Given the description of an element on the screen output the (x, y) to click on. 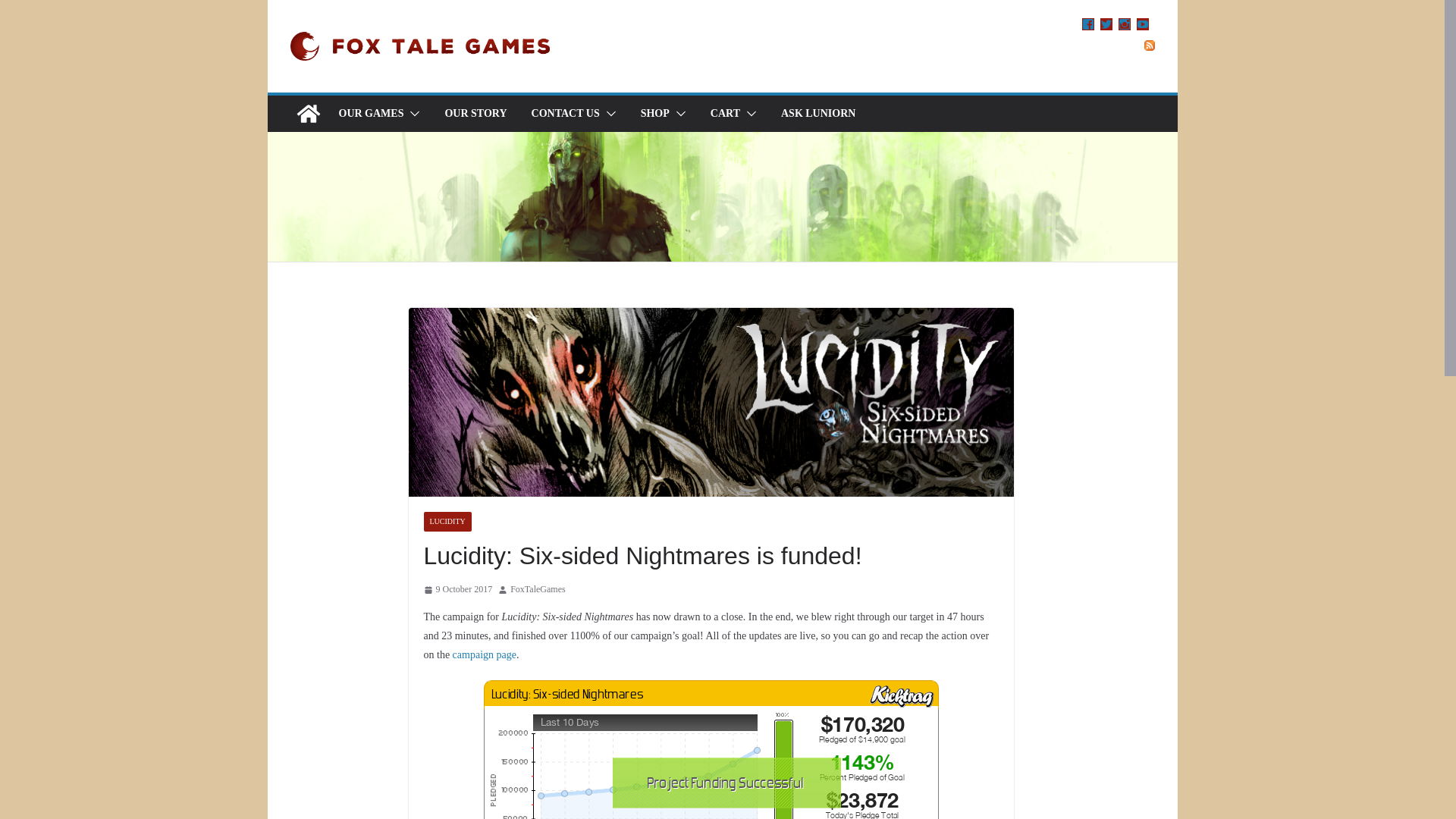
campaign page (484, 654)
Fox Tale Games (307, 113)
FoxTaleGames (537, 589)
LUCIDITY (446, 521)
FoxTaleGames (537, 589)
9 October 2017 (457, 589)
SHOP (654, 113)
ASK LUNIORN (818, 113)
OUR STORY (475, 113)
OUR GAMES (370, 113)
